Given the description of an element on the screen output the (x, y) to click on. 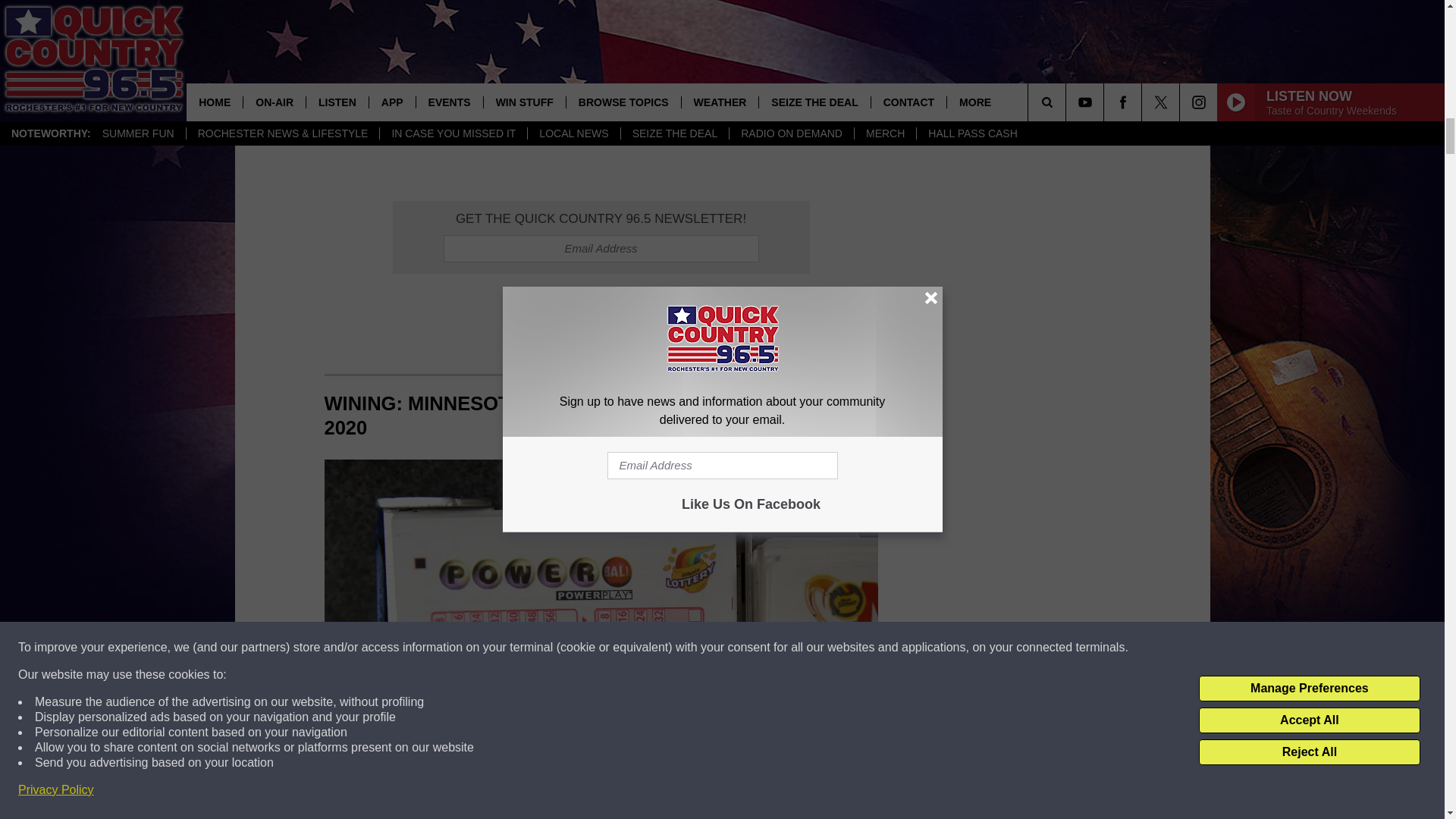
Email Address (600, 248)
